Given the description of an element on the screen output the (x, y) to click on. 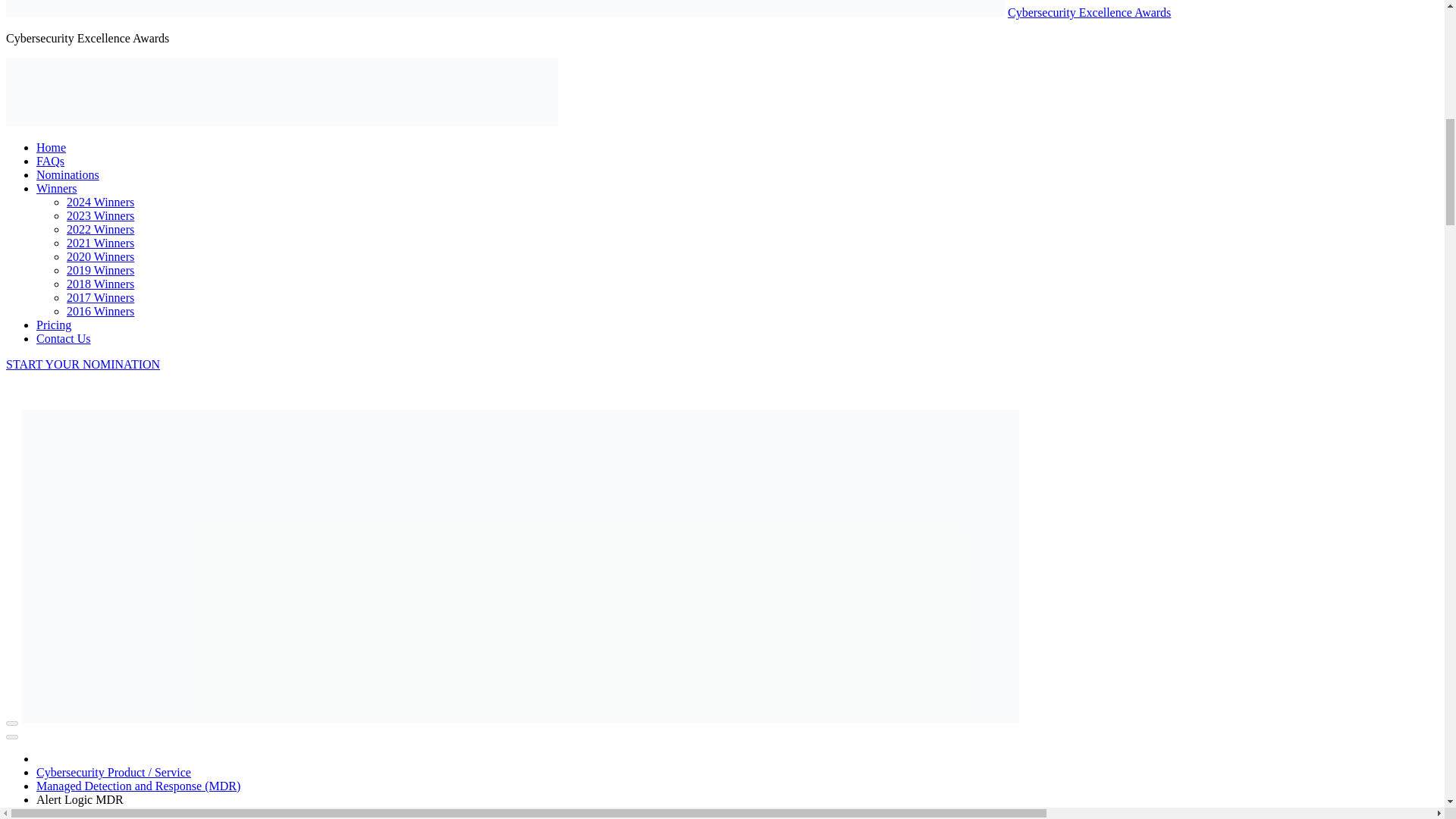
2017 Winners (99, 297)
2021 Winners (99, 242)
2024 Winners (99, 201)
Contact Us (63, 338)
Cybersecurity Excellence Awards (1088, 11)
2020 Winners (99, 256)
2018 Winners (99, 283)
Nominations (67, 174)
FAQs (50, 160)
2023 Winners (99, 215)
